Given the description of an element on the screen output the (x, y) to click on. 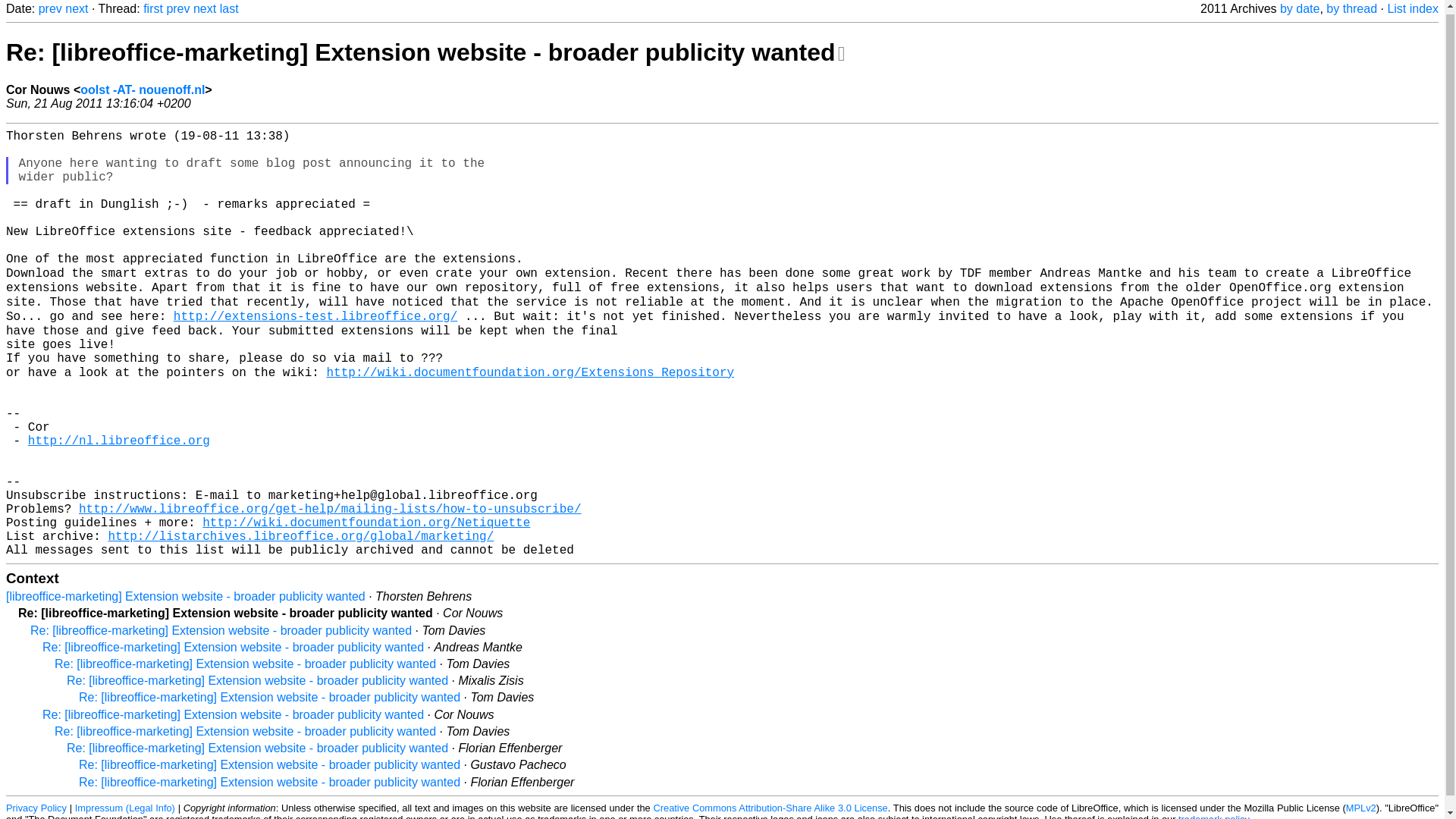
prev (177, 8)
by date (1299, 8)
prev (50, 8)
first (152, 8)
oolst -AT- nouenoff.nl (142, 89)
next (76, 8)
last (228, 8)
MPLv2 (1360, 807)
next (204, 8)
by thread (1351, 8)
